Given the description of an element on the screen output the (x, y) to click on. 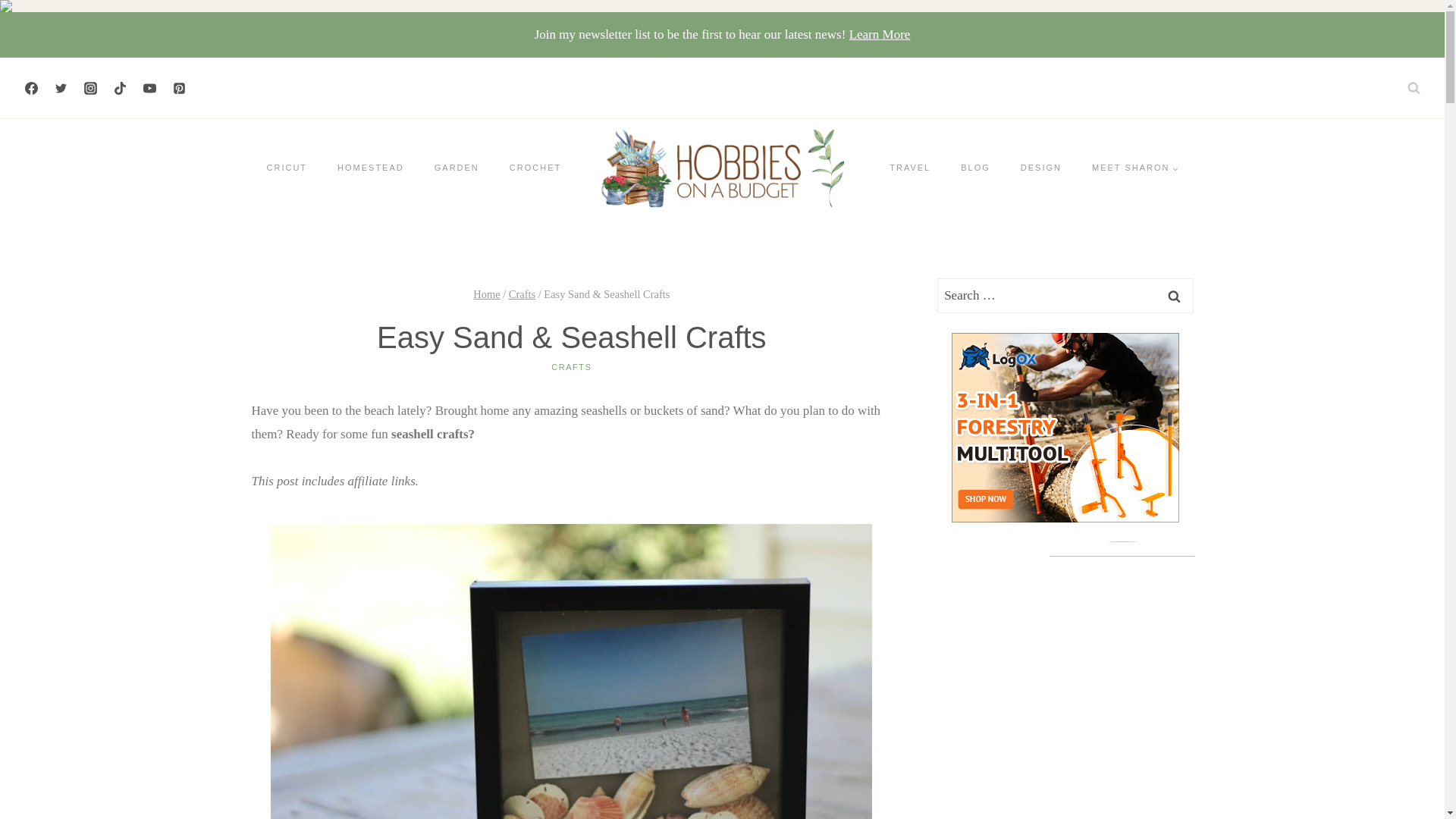
BLOG (975, 168)
TRAVEL (909, 168)
CRICUT (287, 168)
CRAFTS (571, 366)
MEET SHARON (1134, 168)
Crafts (521, 294)
Search (1174, 295)
Learn More (879, 34)
HOMESTEAD (370, 168)
Home (486, 294)
